Given the description of an element on the screen output the (x, y) to click on. 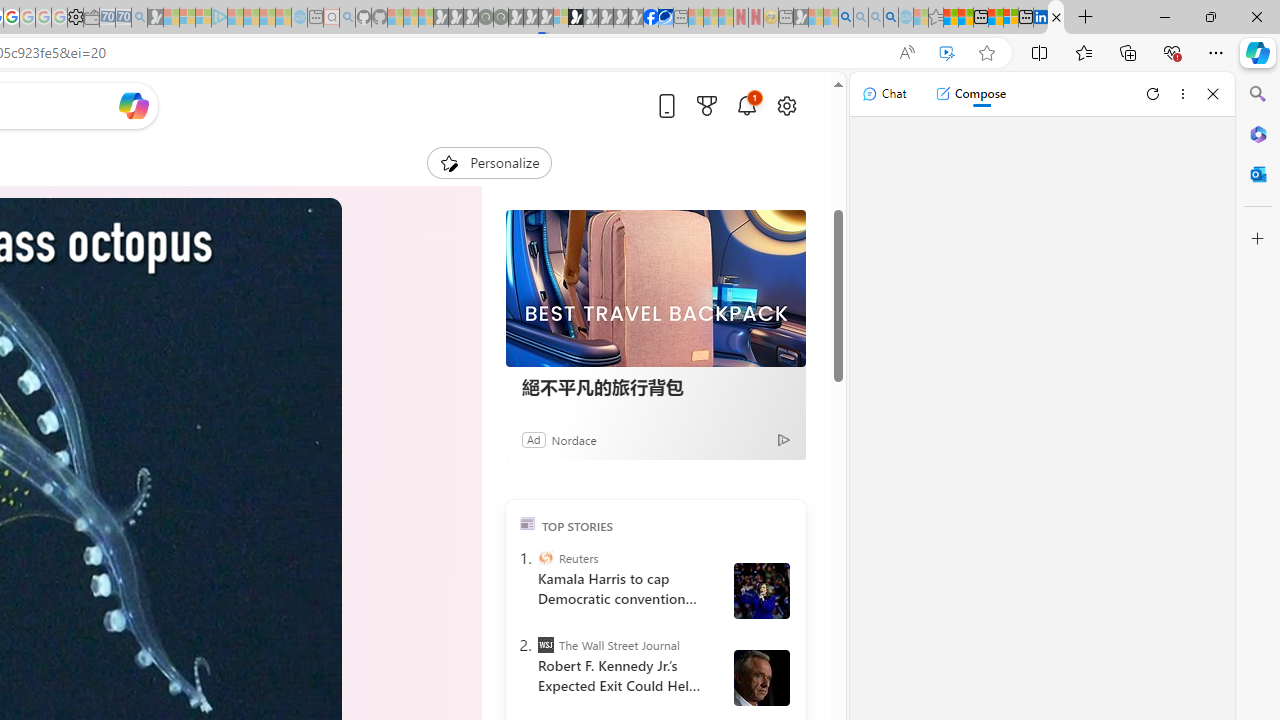
Microsoft Start Gaming - Sleeping (155, 17)
The Wall Street Journal (545, 645)
LinkedIn (1041, 17)
Wallet - Sleeping (91, 17)
github - Search - Sleeping (347, 17)
